Given the description of an element on the screen output the (x, y) to click on. 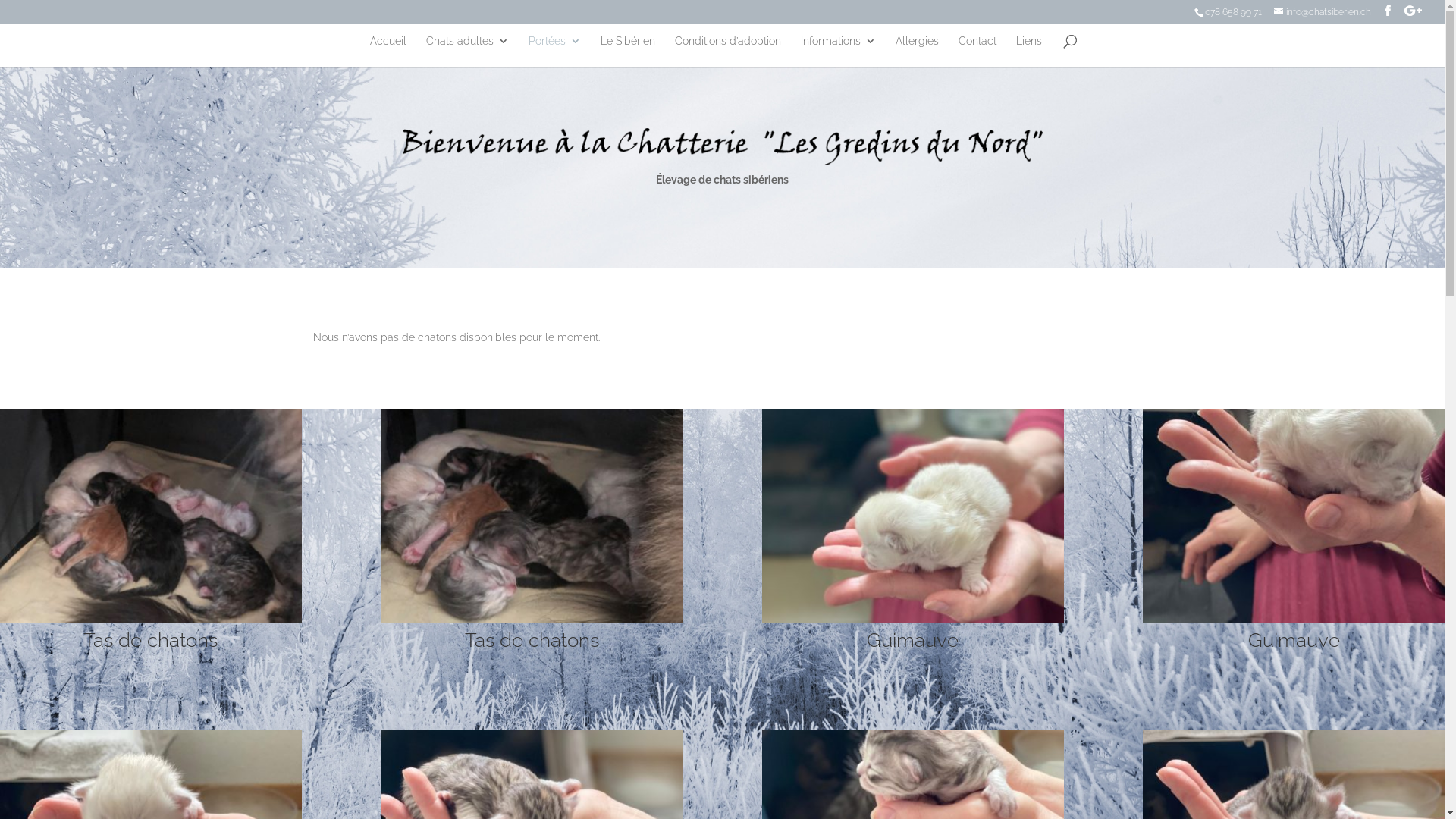
Guimauve Element type: hover (912, 618)
Guimauve Element type: hover (1293, 618)
Informations Element type: text (837, 51)
Tas de chatons Element type: hover (531, 618)
Accueil Element type: text (388, 51)
info@chatsiberien.ch Element type: text (1322, 11)
Allergies Element type: text (916, 51)
Tas de chatons Element type: hover (150, 618)
Contact Element type: text (977, 51)
Liens Element type: text (1028, 51)
Chats adultes Element type: text (467, 51)
